Given the description of an element on the screen output the (x, y) to click on. 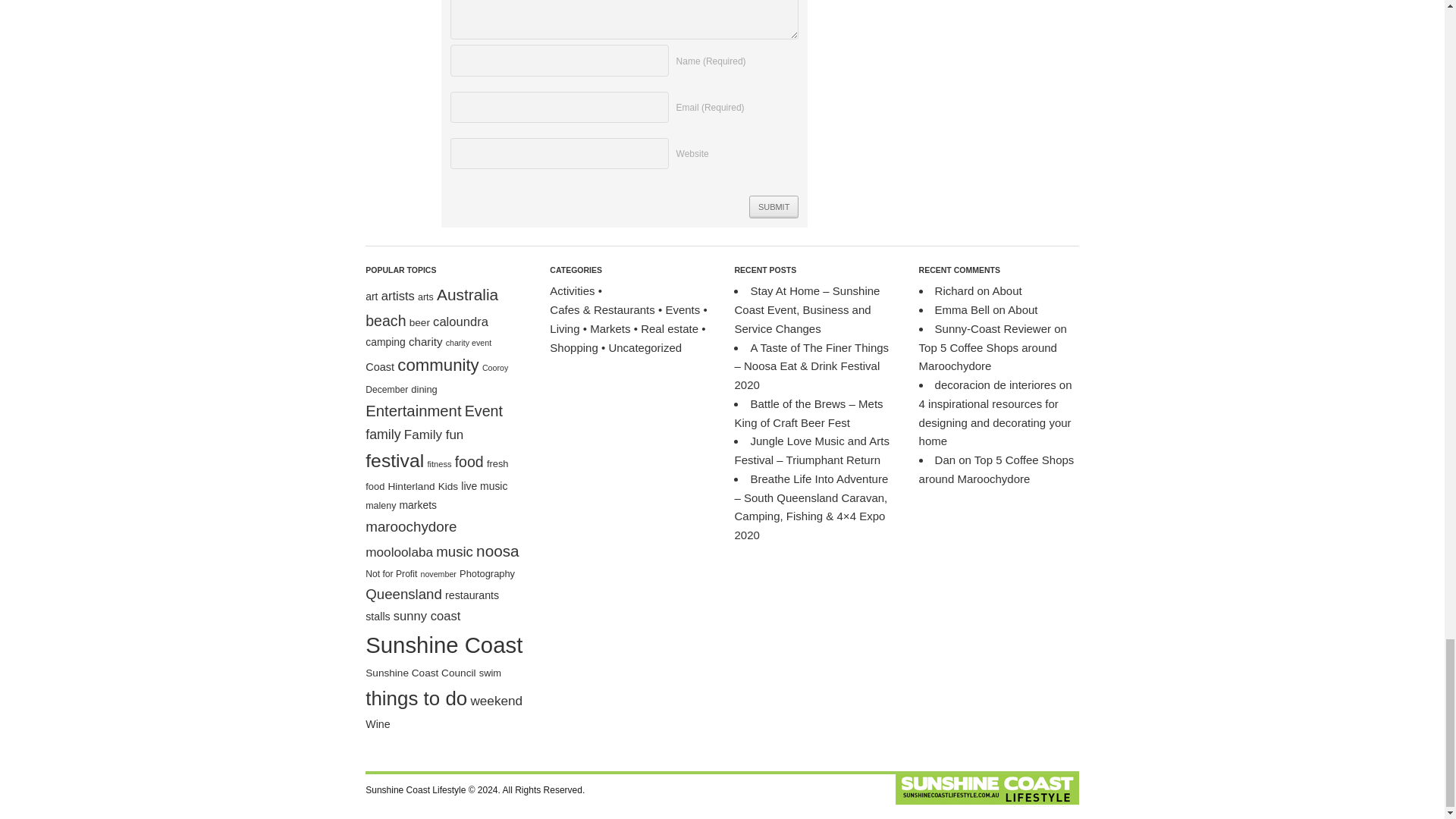
Submit (773, 206)
